Given the description of an element on the screen output the (x, y) to click on. 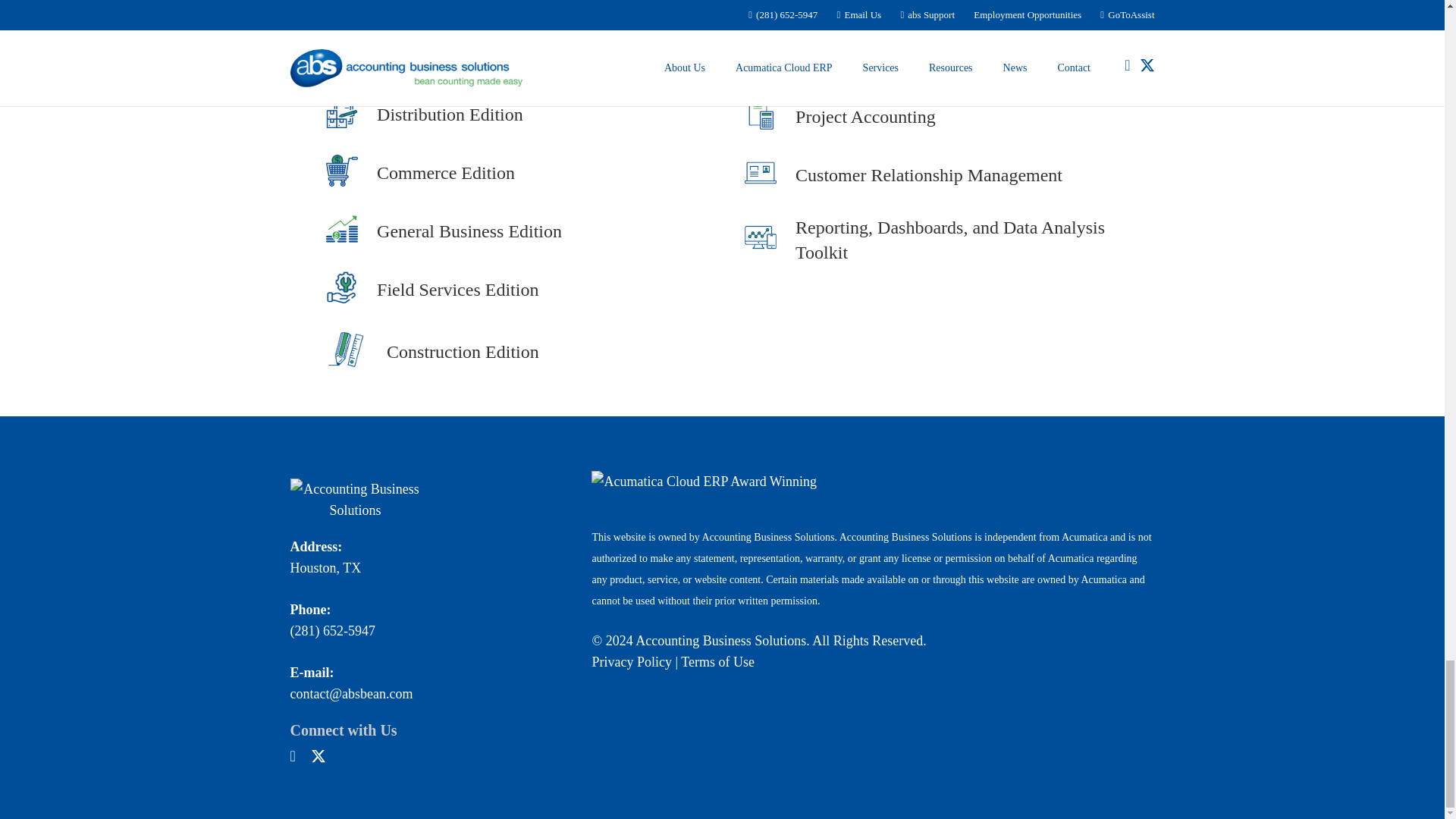
Acumatica Cloud ERP: General Business Edition (469, 231)
Acumatica Cloud ERP: Field Service Edition (350, 290)
Acumatica Cloud ERP: General Business Edition (350, 231)
Acumatica Cloud ERP: Distribution Edition (449, 114)
Acumatica Cloud ERP: Distribution Edition (350, 115)
Acumatica Cloud ERP: Manufacturing Edition (460, 58)
Acumatica Cloud ERP: Commerce Edition (350, 173)
Acumatica Cloud ERP: Commerce Edition (446, 173)
Acumatica Cloud ERP: Manufacturing Edition (350, 58)
